Given the description of an element on the screen output the (x, y) to click on. 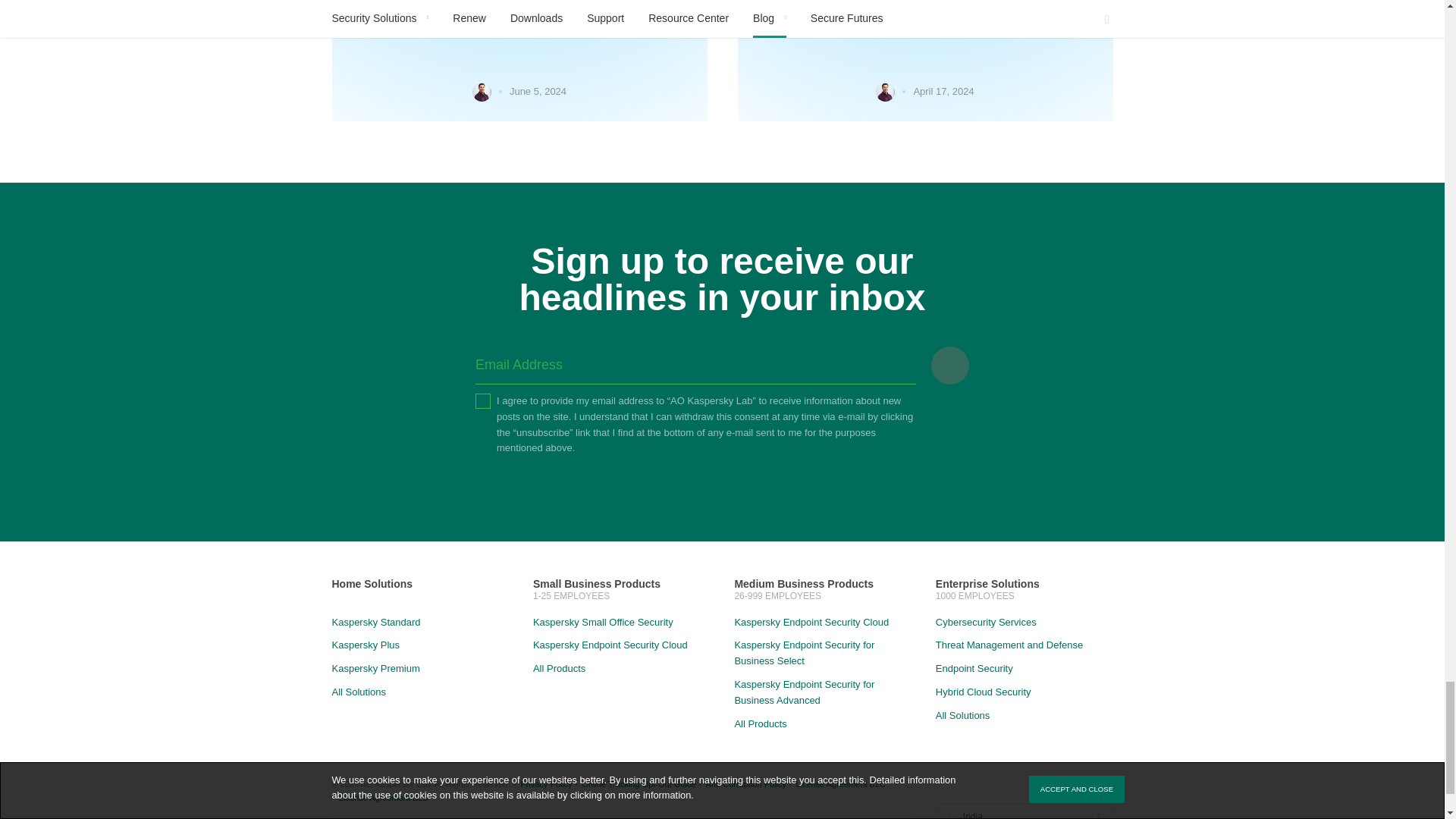
Sign me Up (950, 365)
